Given the description of an element on the screen output the (x, y) to click on. 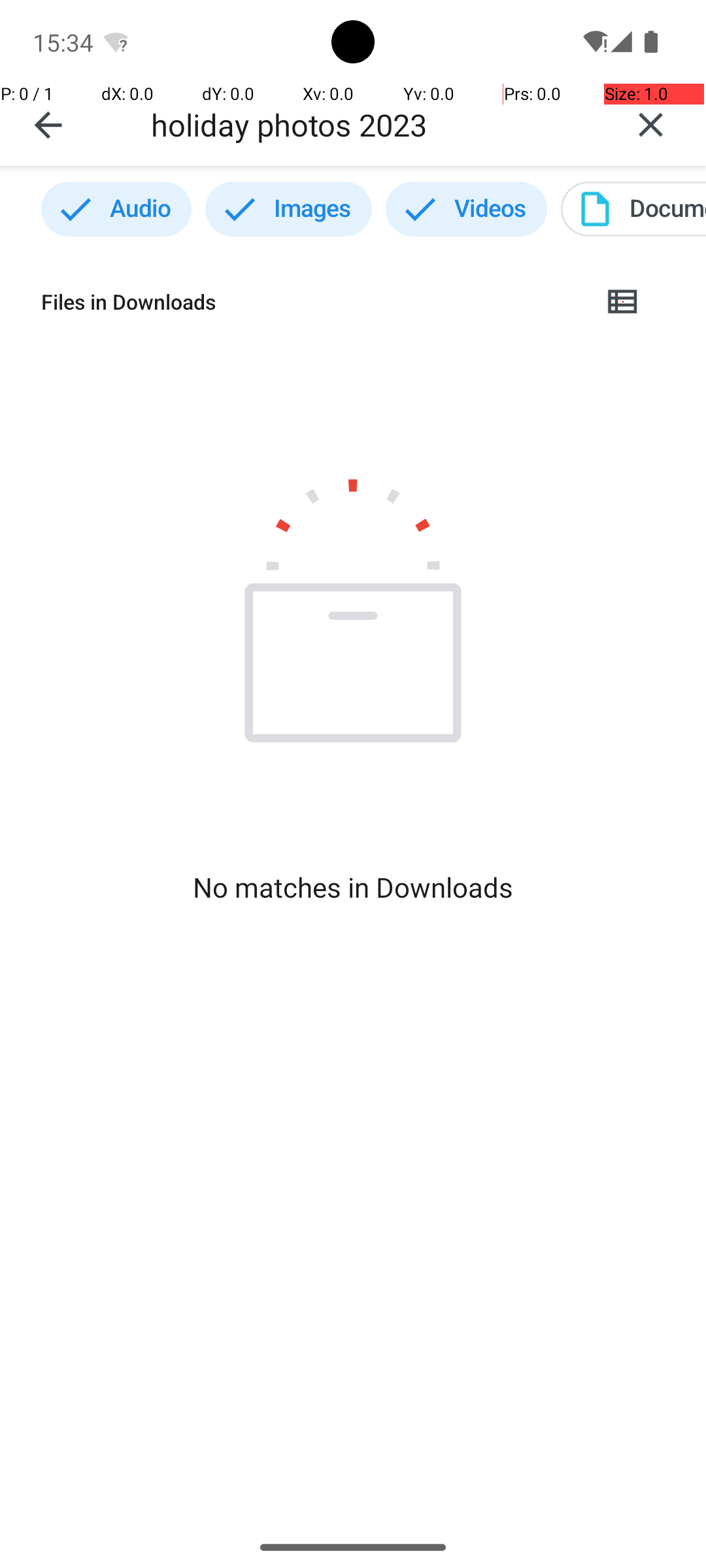
holiday photos 2023 Element type: android.widget.AutoCompleteTextView (373, 124)
